Given the description of an element on the screen output the (x, y) to click on. 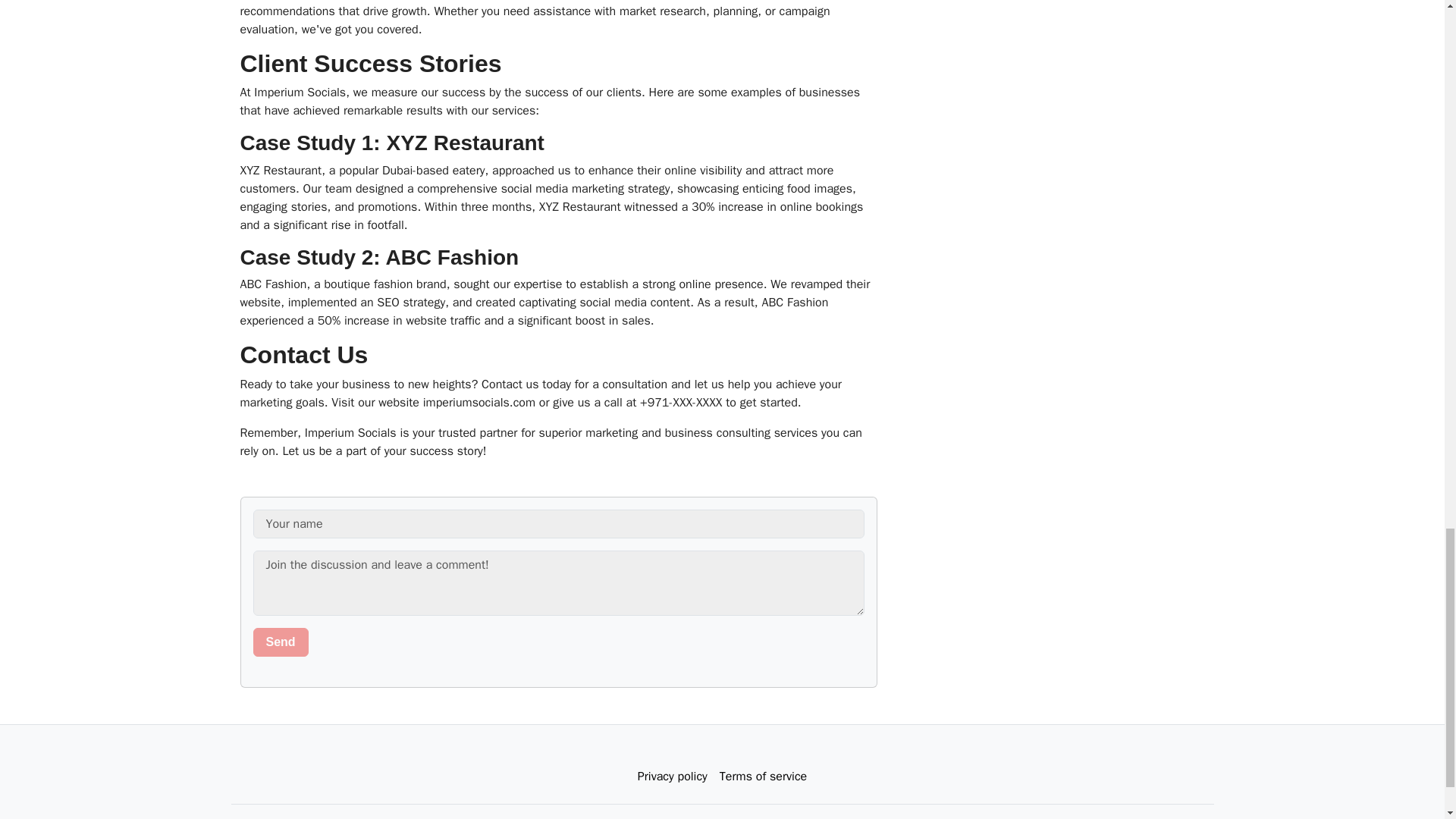
Terms of service (762, 776)
Send (280, 642)
Send (280, 642)
Privacy policy (672, 776)
